Given the description of an element on the screen output the (x, y) to click on. 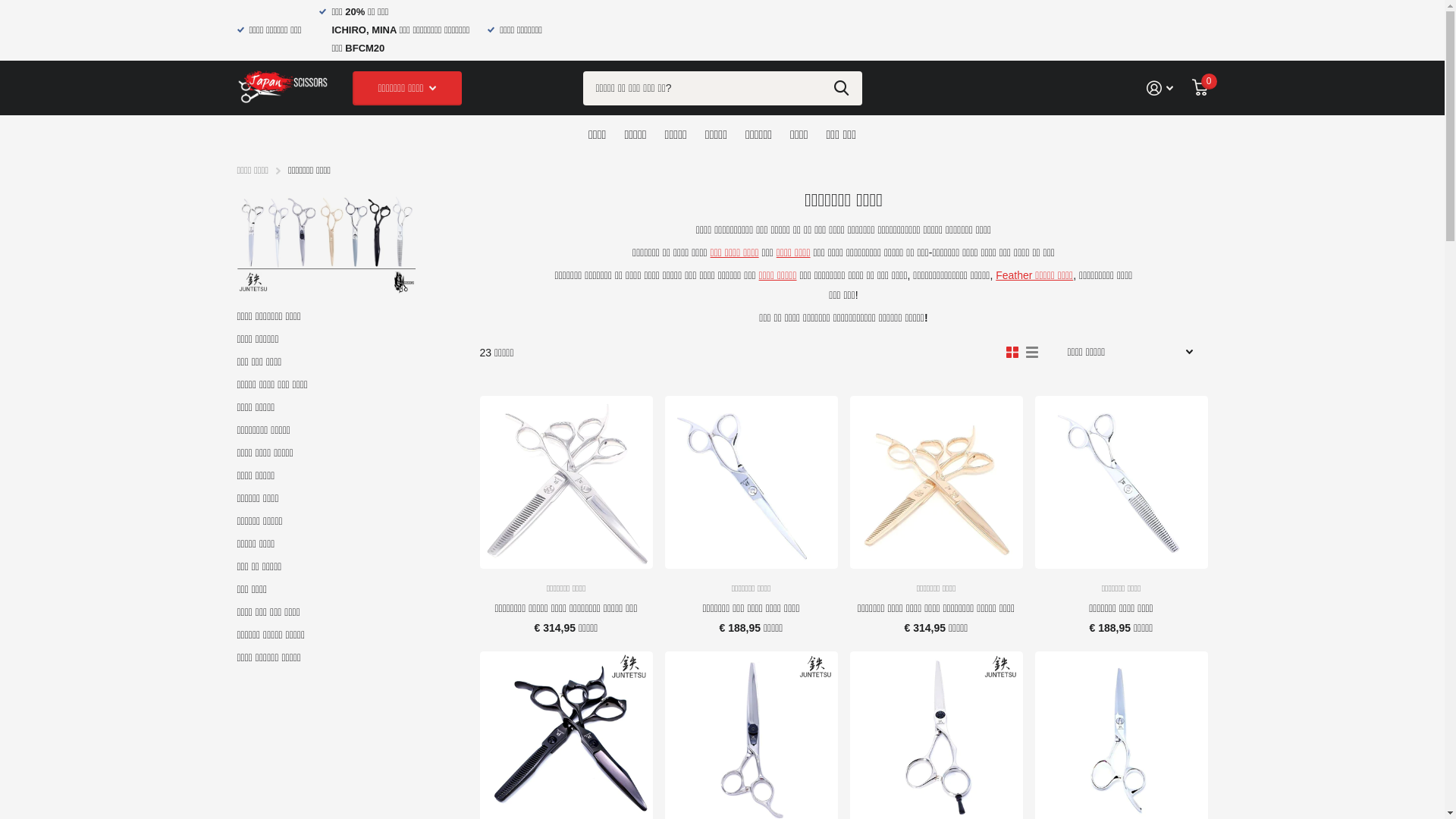
0 Element type: text (1200, 87)
